Given the description of an element on the screen output the (x, y) to click on. 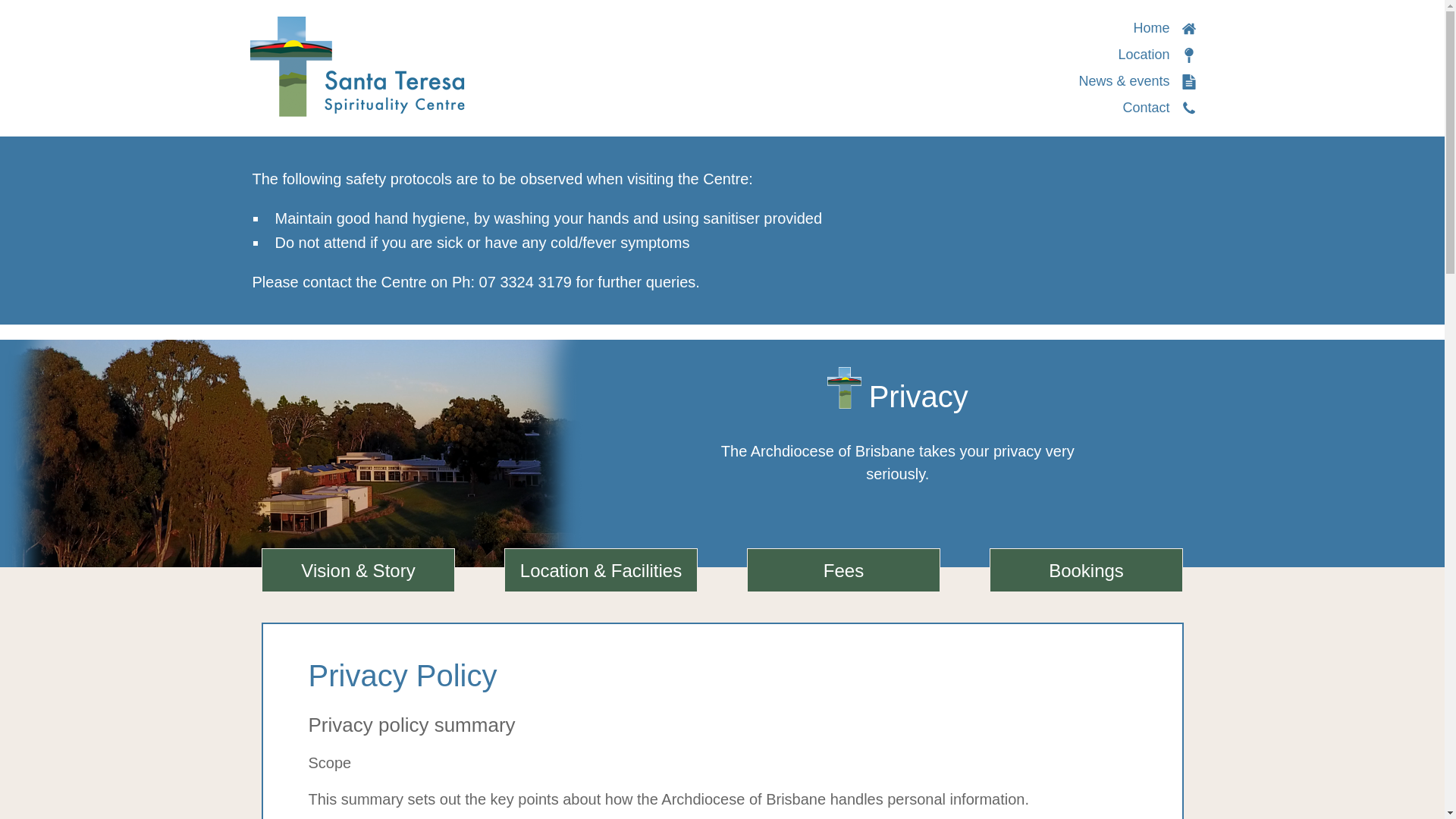
Latest Santa Teresa Spirituality Centre news and events (1136, 80)
Privacy Policy (721, 675)
Return to Santa Teresa Spirituality Centre homepage (356, 64)
Location (1156, 54)
Santa Teresa Spirituality Centre location and address (1156, 54)
Bookings (1086, 569)
Contact (1158, 107)
Return to Santa Teresa Spirituality Centre homepage (1163, 28)
Fees (843, 569)
Home (1163, 28)
Contact details for Santa Teresa Spirituality Centre (1158, 107)
